Given the description of an element on the screen output the (x, y) to click on. 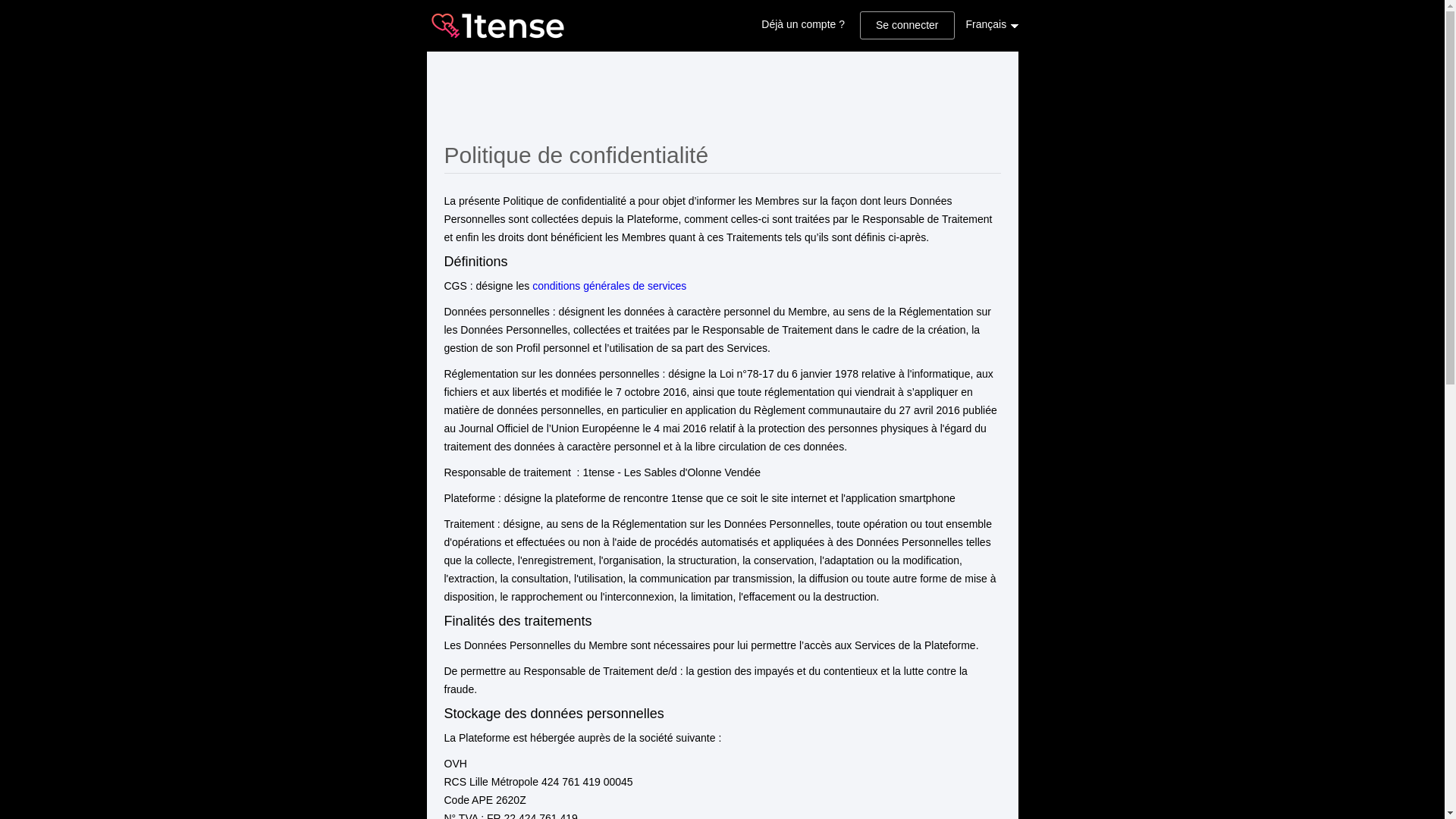
Se connecter Element type: text (906, 25)
Advertisement Element type: hover (721, 100)
